Given the description of an element on the screen output the (x, y) to click on. 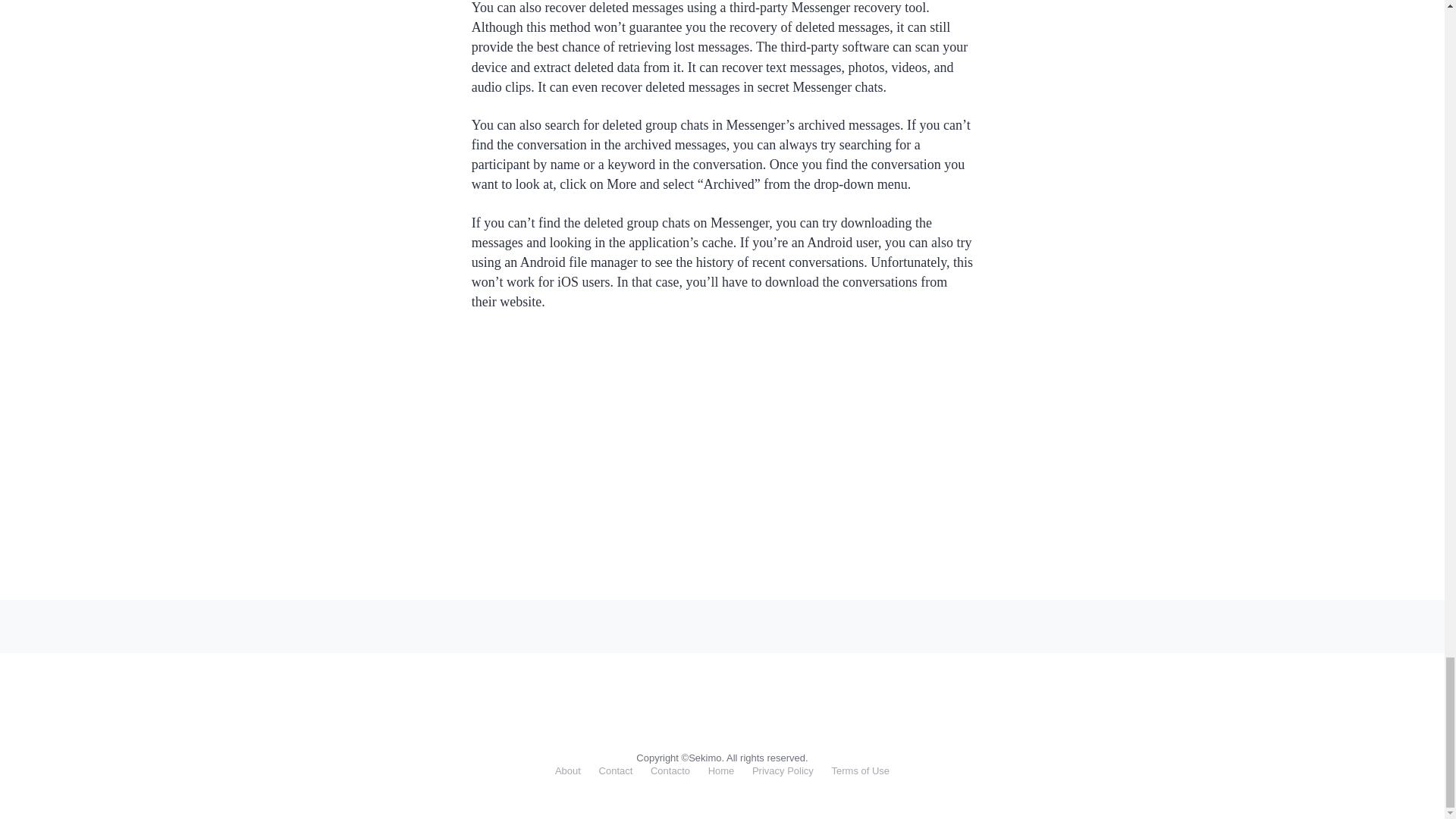
About (567, 770)
Contacto (670, 770)
Home (721, 770)
Terms of Use (860, 770)
Privacy Policy (782, 770)
Contact (615, 770)
